Given the description of an element on the screen output the (x, y) to click on. 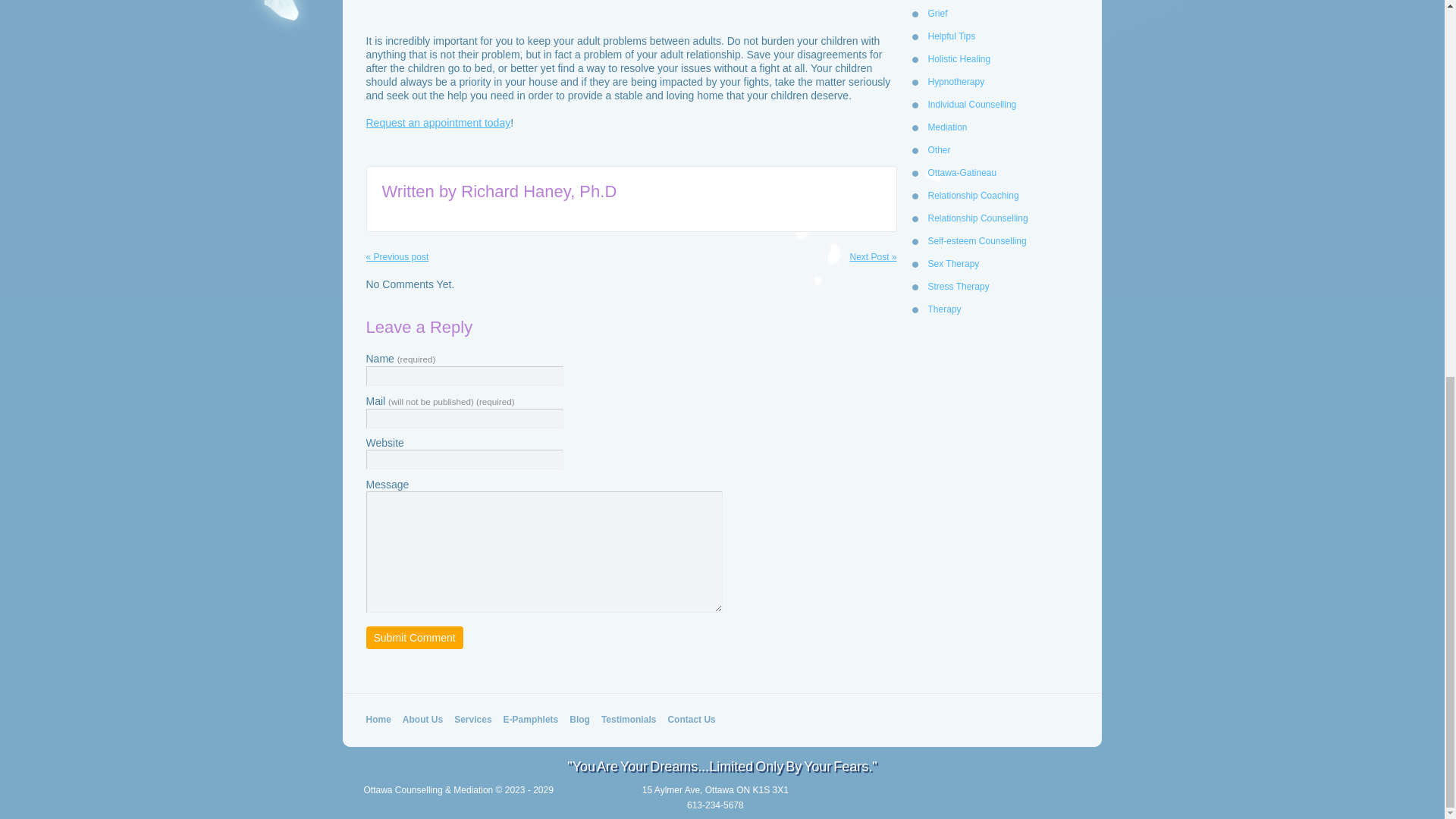
Richard Haney, Ph.D (538, 190)
Request an appointment today (438, 122)
Online Marketing (1002, 804)
Submit Comment (414, 637)
Posts by Richard Haney, Ph.D (538, 190)
